Given the description of an element on the screen output the (x, y) to click on. 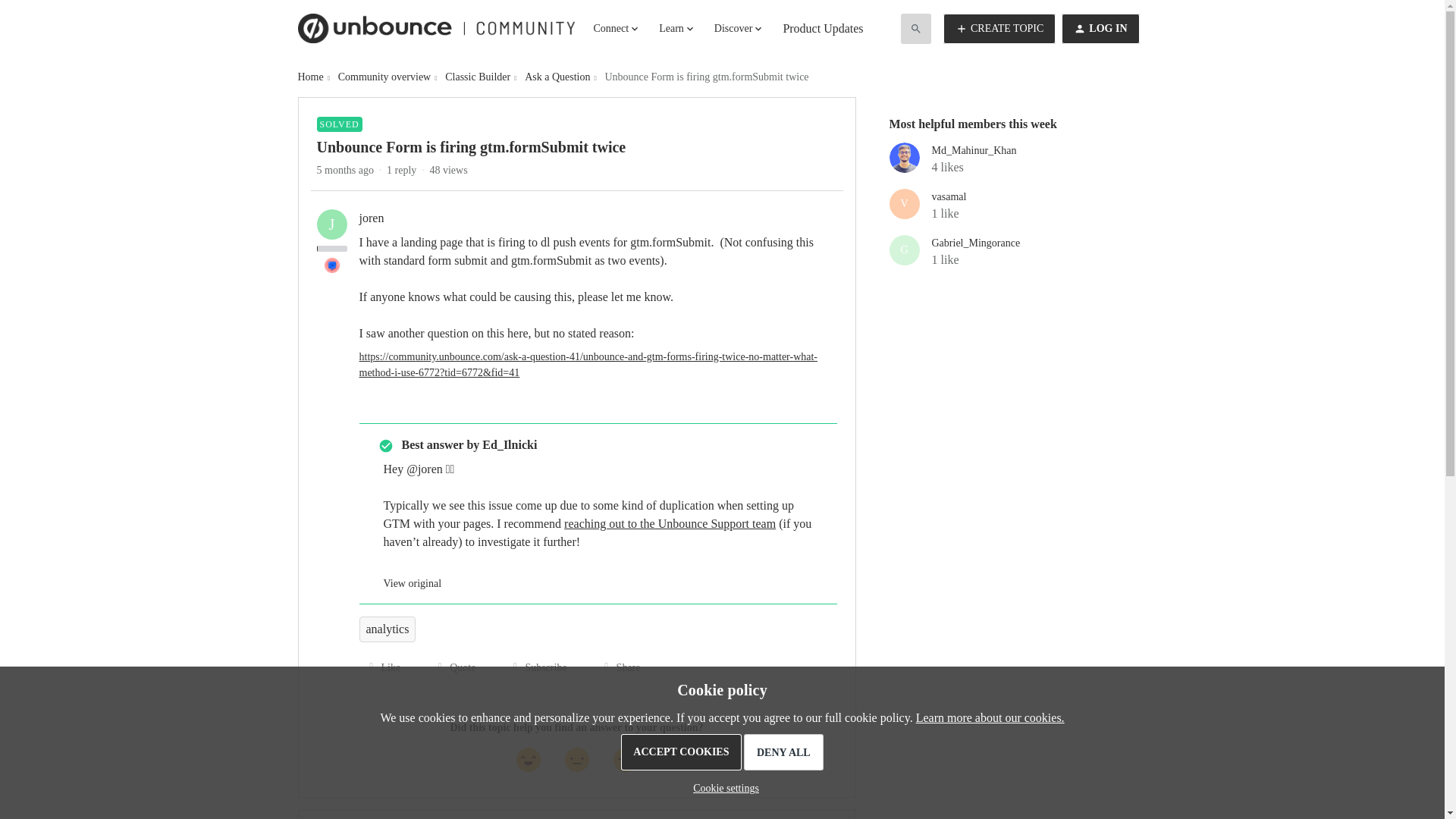
Learn (677, 28)
Discover (739, 28)
Connect (618, 28)
